Given the description of an element on the screen output the (x, y) to click on. 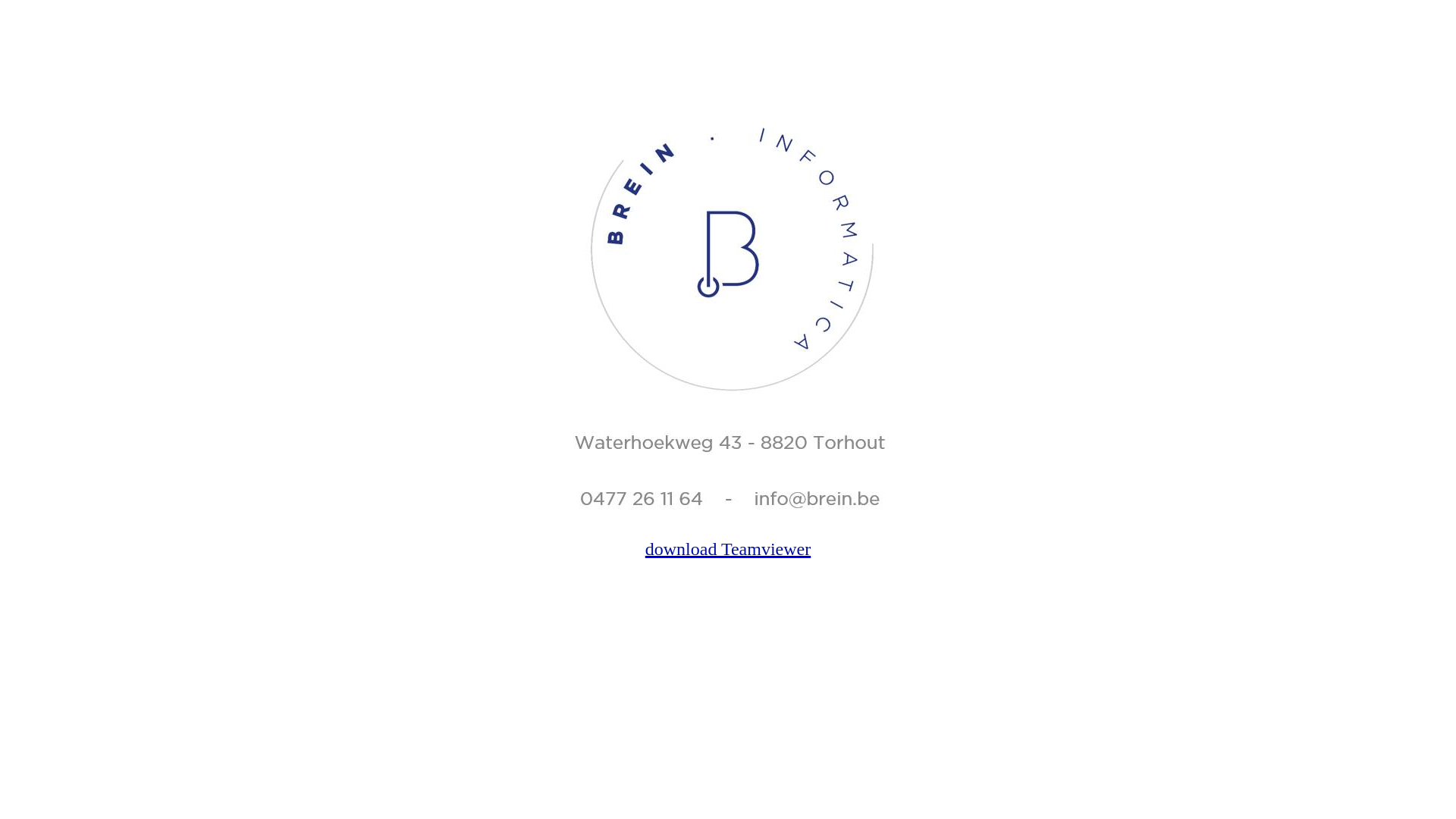
download Teamviewer Element type: text (727, 548)
